Given the description of an element on the screen output the (x, y) to click on. 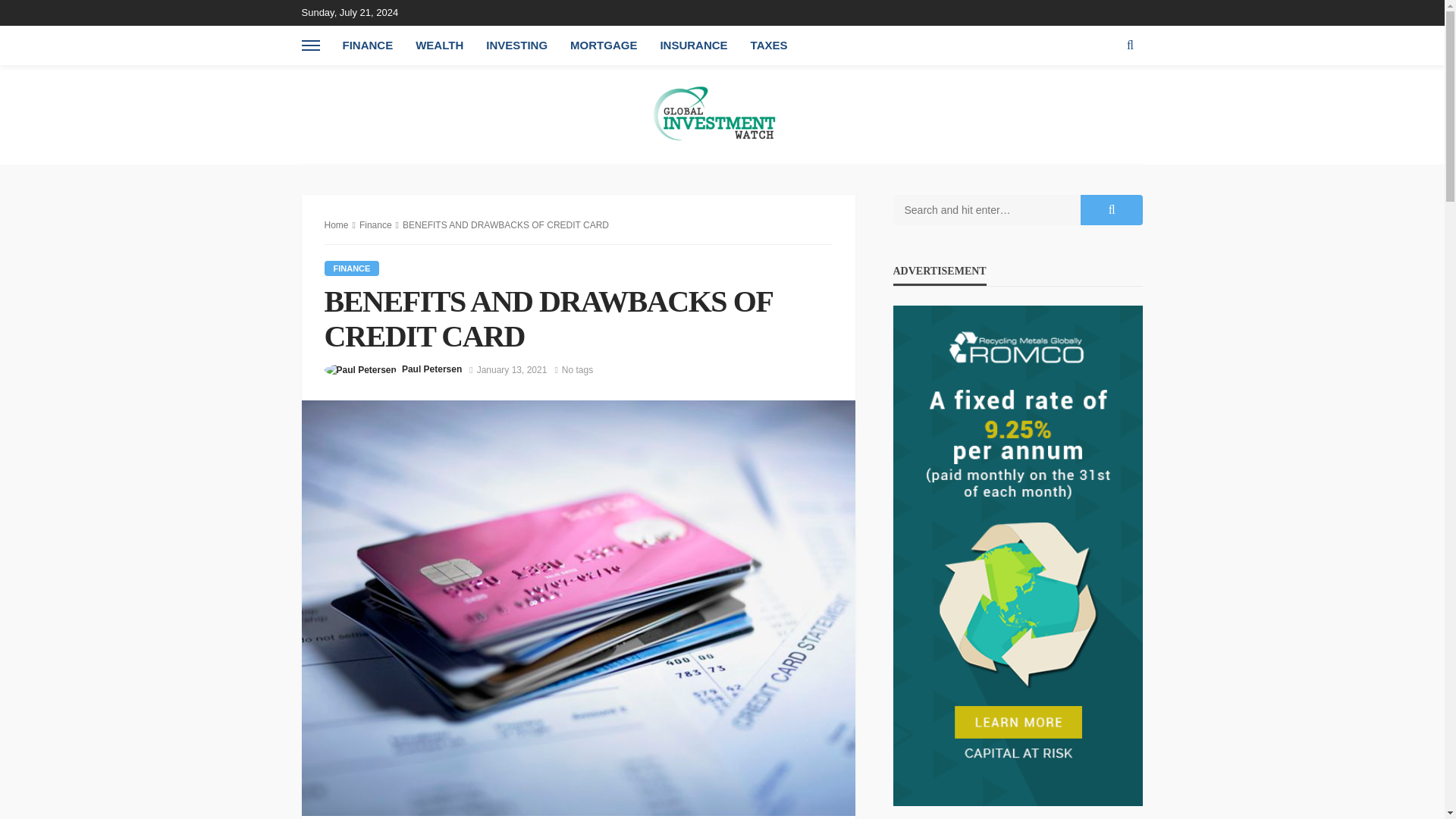
Paul Petersen (431, 368)
INSURANCE (692, 45)
Finance (352, 268)
FINANCE (367, 45)
Global Investment Watch (721, 114)
Finance (375, 225)
INVESTING (516, 45)
MORTGAGE (603, 45)
Home (336, 225)
TAXES (769, 45)
FINANCE (352, 268)
WEALTH (439, 45)
